Given the description of an element on the screen output the (x, y) to click on. 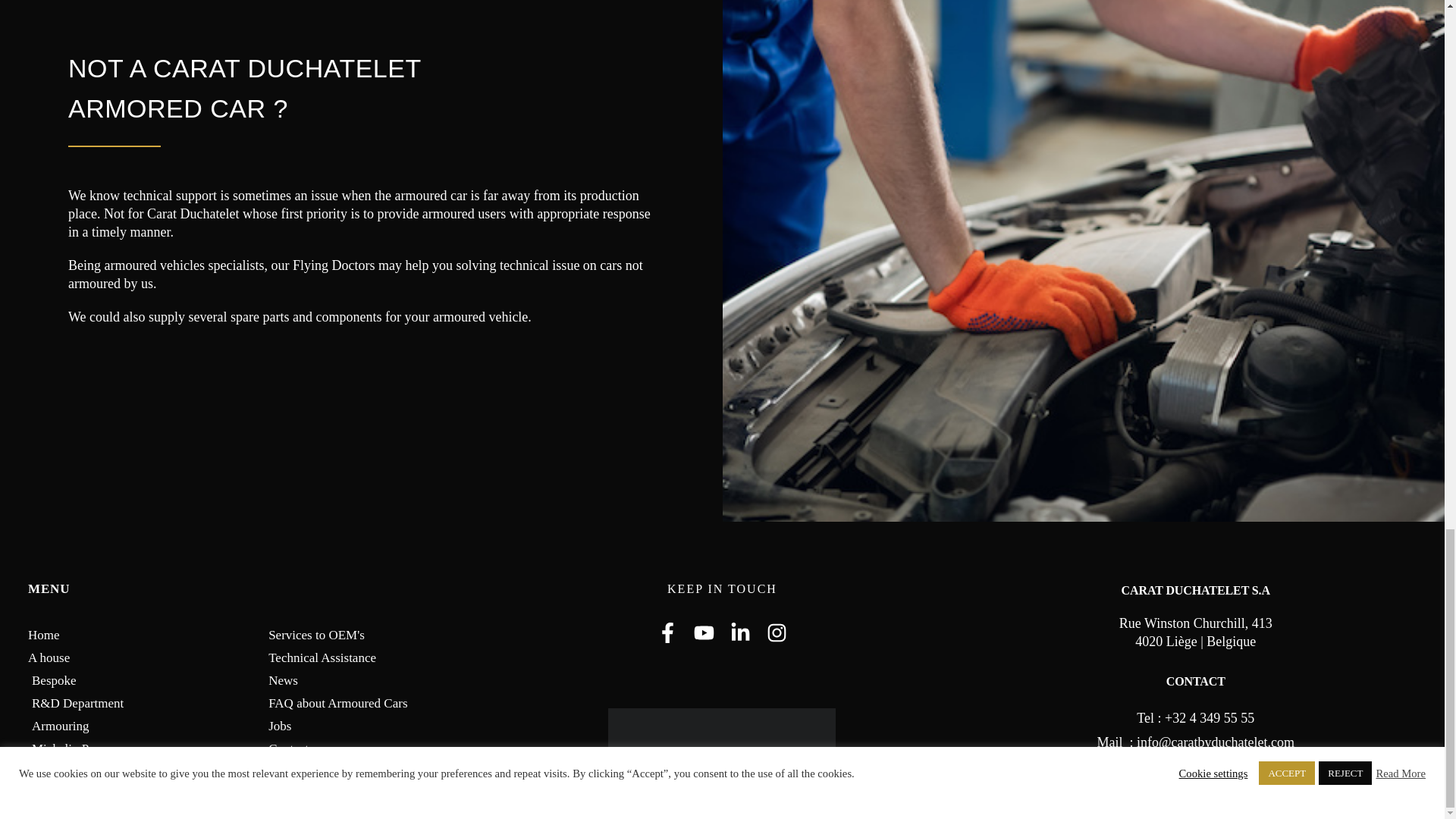
Home (43, 635)
A house (48, 658)
Armouring (57, 726)
Bespoke (52, 680)
